Given the description of an element on the screen output the (x, y) to click on. 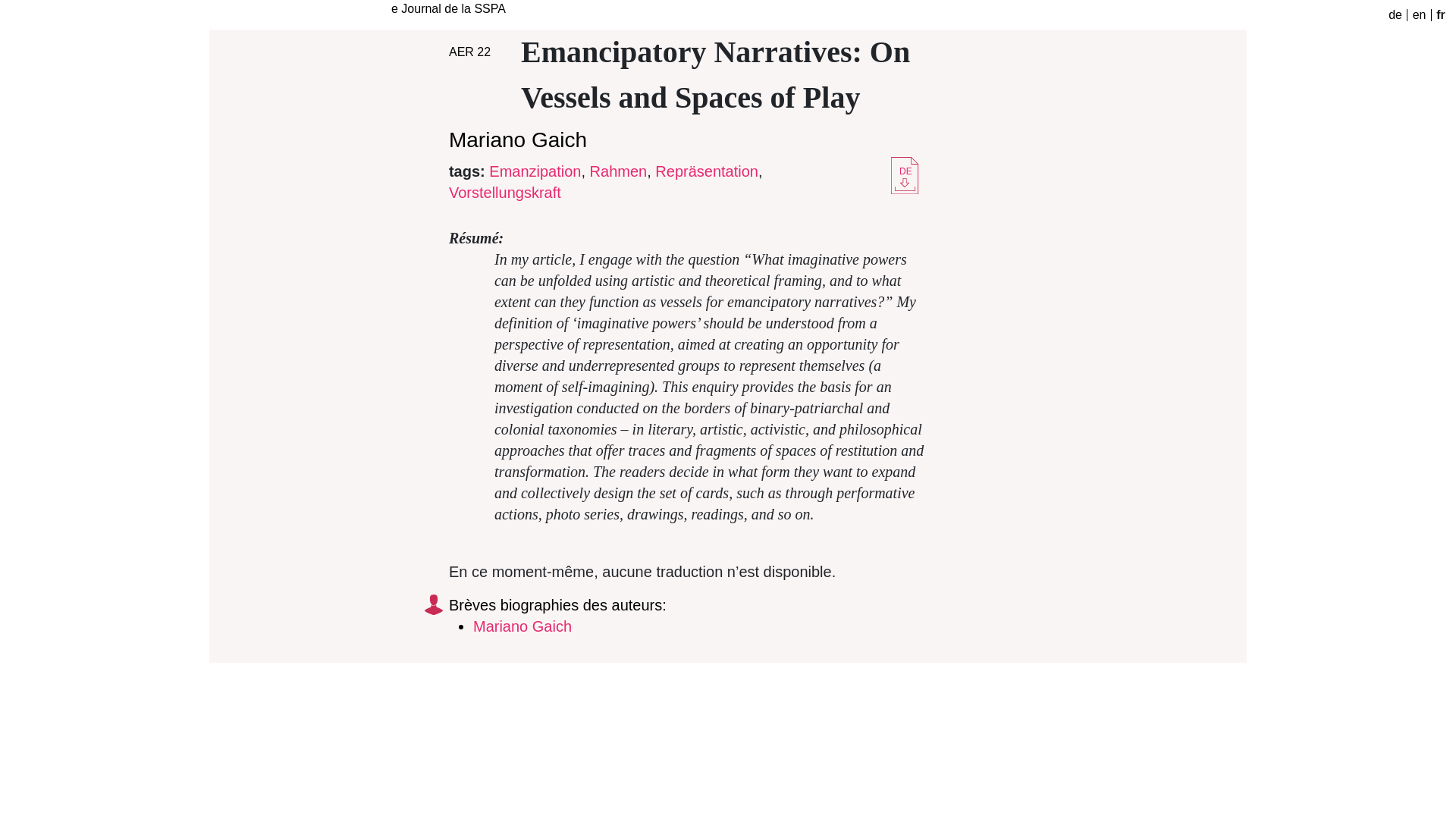
e Journal de la SSPA (448, 8)
AER 22 (469, 51)
Mariano Gaich (522, 626)
Rahmen (618, 170)
Emanzipation (534, 170)
Mariano Gaich (517, 139)
Vorstellungskraft (504, 192)
DE (904, 169)
